Given the description of an element on the screen output the (x, y) to click on. 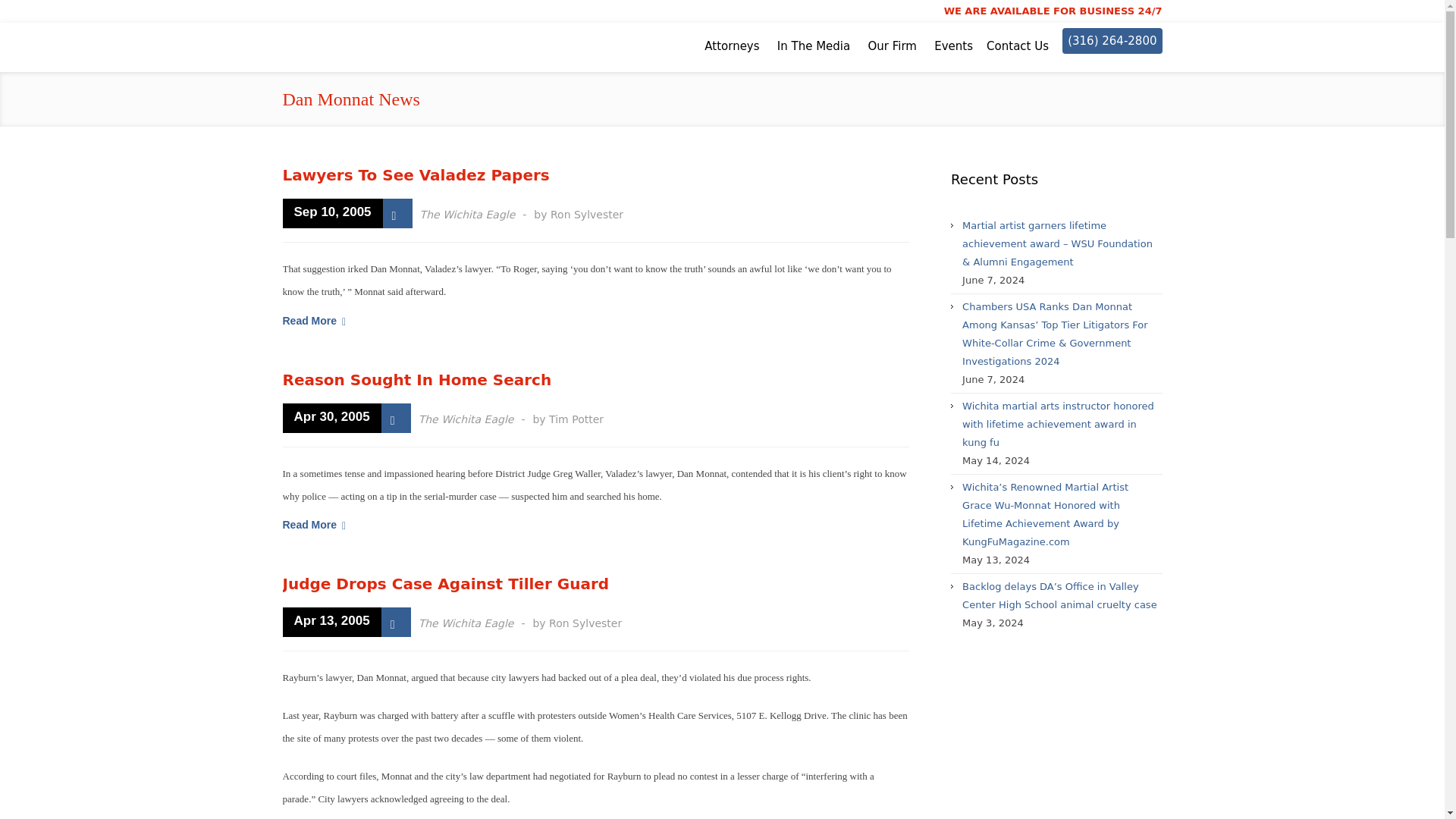
Sep 10, 2005 (331, 213)
Apr 13, 2005 (331, 622)
Lawyers To See Valadez Papers (415, 175)
Our Firm (891, 46)
Reason Sought In Home Search (416, 380)
In The Media (813, 46)
Contact Us (1017, 46)
Read More (314, 320)
Read More (314, 524)
Judge Drops Case Against Tiller Guard (445, 583)
Events (953, 46)
Apr 30, 2005 (331, 418)
Attorneys (731, 46)
